Given the description of an element on the screen output the (x, y) to click on. 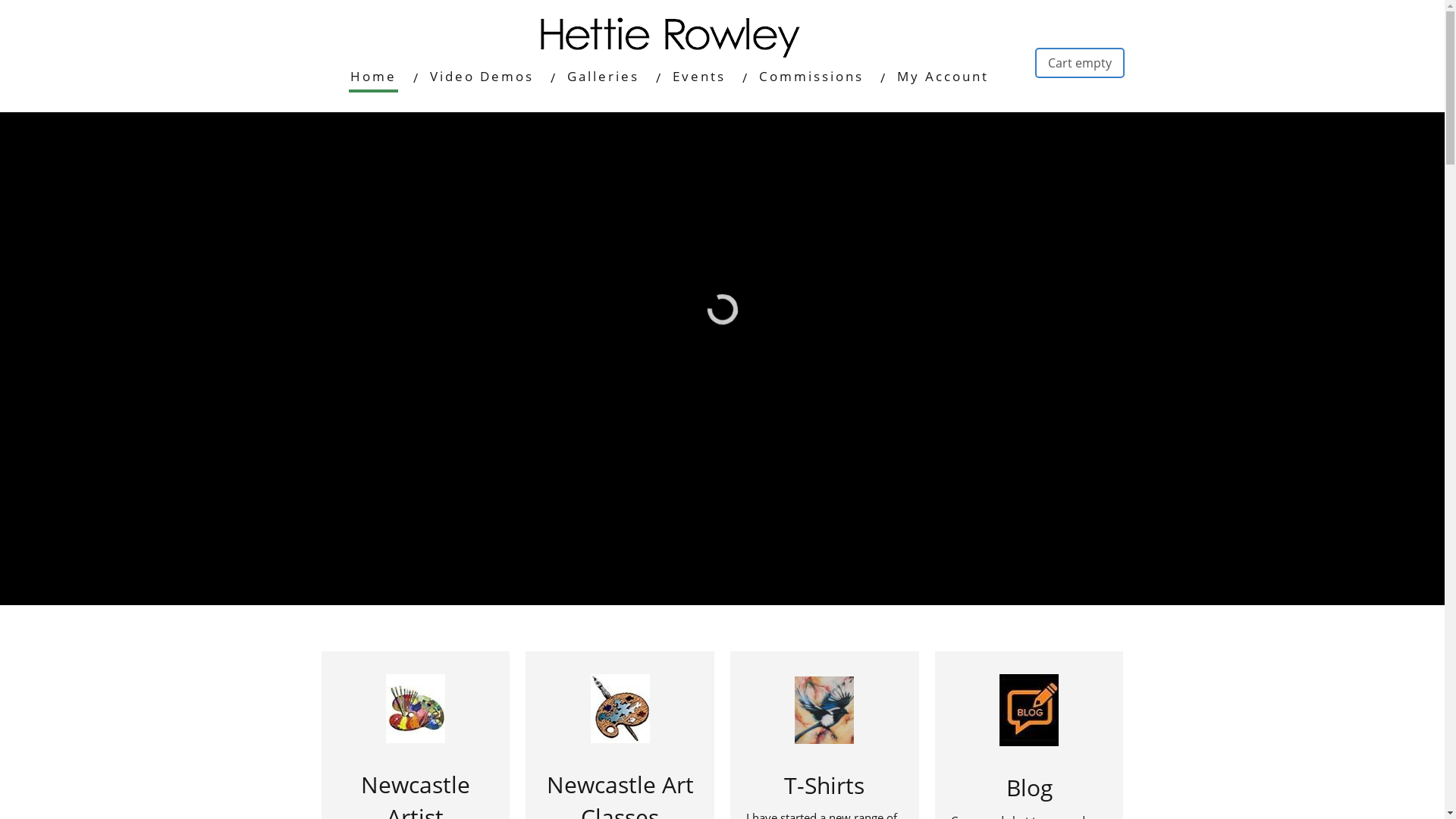
Video Demos Element type: text (481, 76)
Home Element type: text (373, 76)
Cart empty Element type: text (1079, 62)
My Account Element type: text (942, 76)
Photo 3 Color Element type: hover (823, 709)
Commissions Element type: text (811, 76)
Galleries Element type: text (602, 76)
Events Element type: text (699, 76)
